Given the description of an element on the screen output the (x, y) to click on. 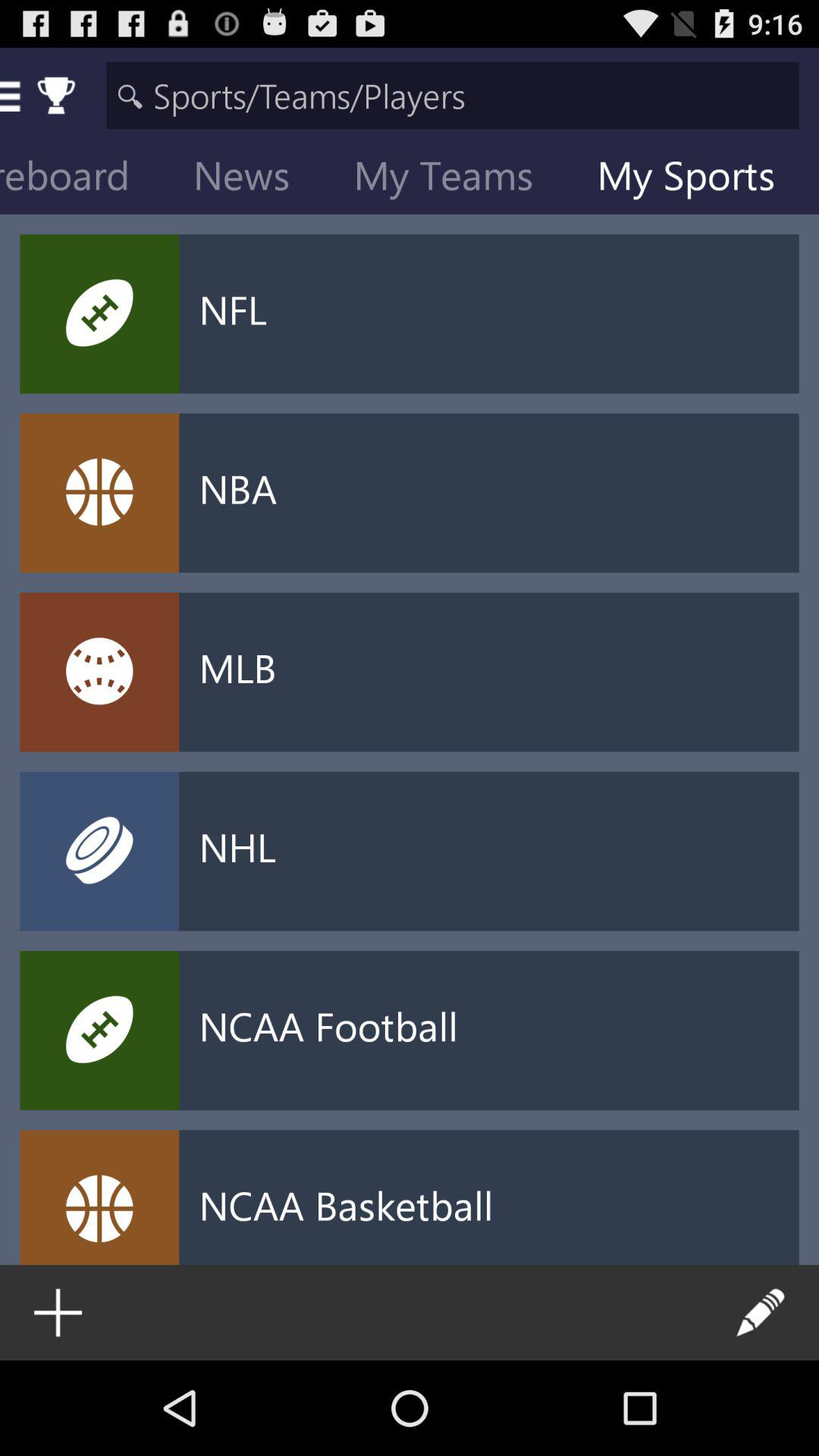
search option (452, 95)
